Given the description of an element on the screen output the (x, y) to click on. 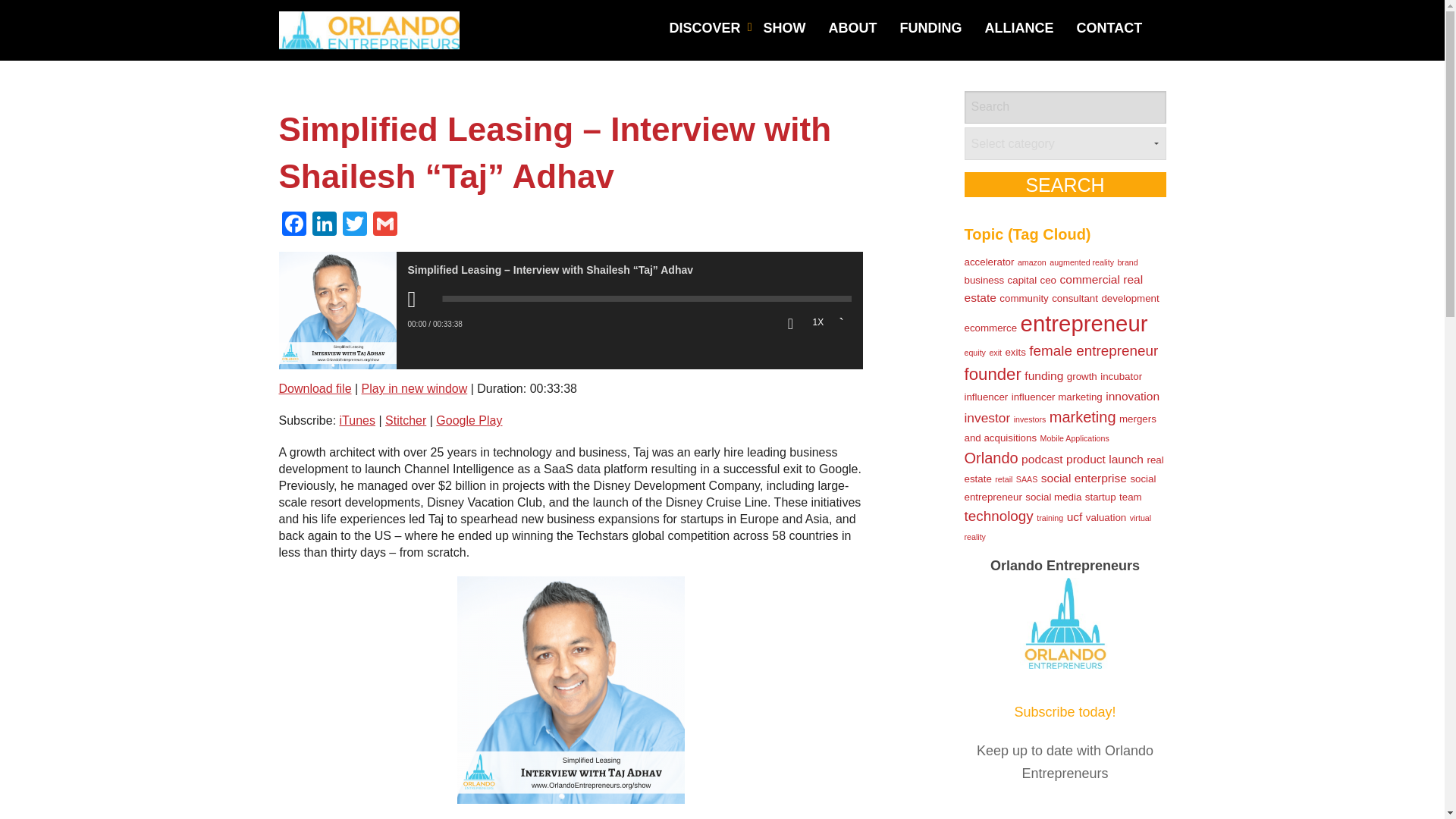
ALLIANCE (1019, 28)
Google Play (468, 420)
CONTACT (1109, 28)
Play in new window (414, 388)
Twitter (354, 225)
ABOUT (852, 28)
iTunes (357, 420)
LinkedIn (323, 225)
iTunes (357, 420)
Gmail (384, 225)
